Given the description of an element on the screen output the (x, y) to click on. 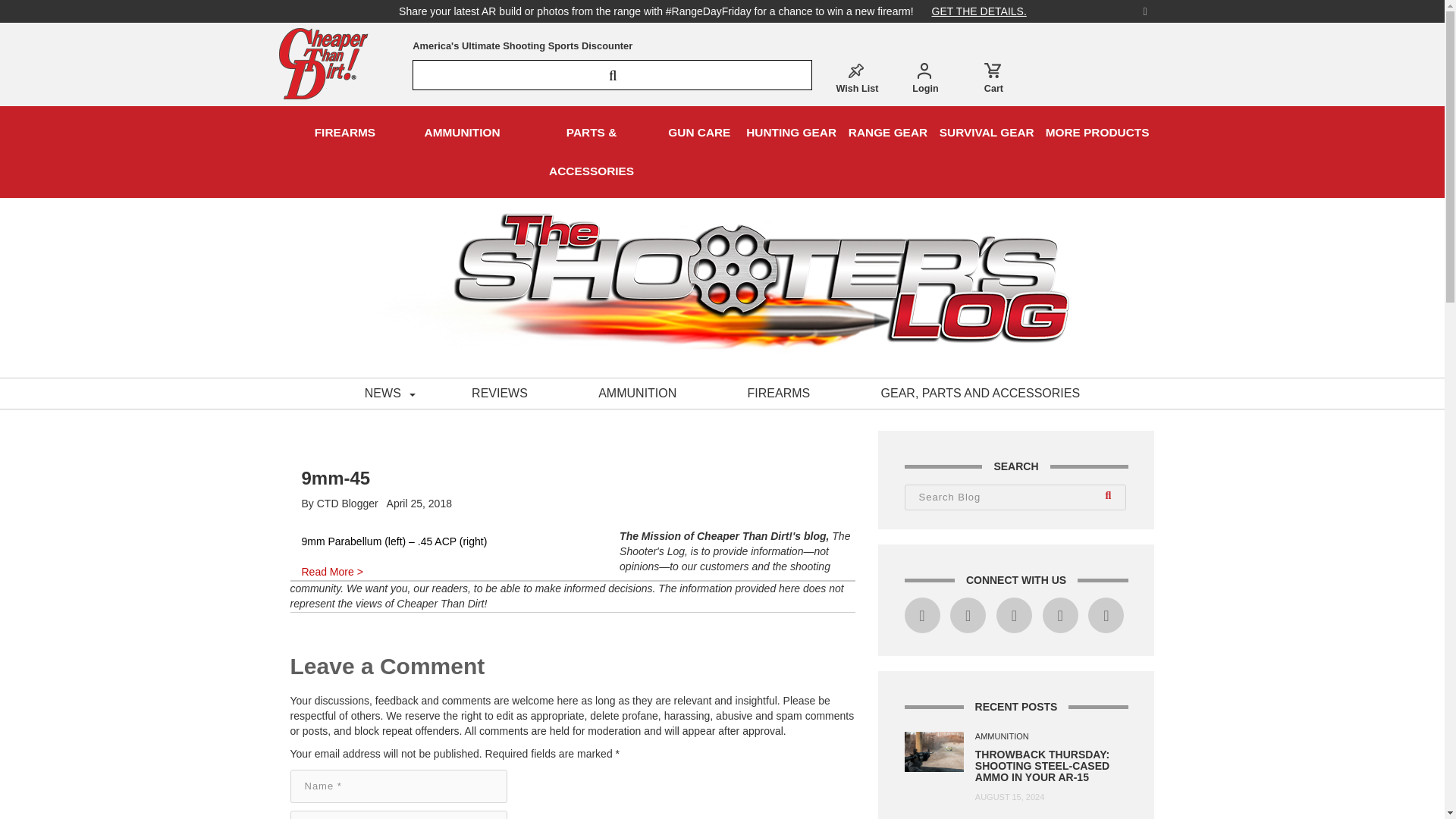
Search (1109, 497)
GET THE DETAILS. (978, 10)
AMMUNITION (637, 393)
FIREARMS (779, 393)
NEWS (383, 393)
Cart (993, 77)
Gear, Parts and Accessories (980, 393)
Wish List (856, 77)
SURVIVAL GEAR (987, 132)
REVIEWS (499, 393)
